Given the description of an element on the screen output the (x, y) to click on. 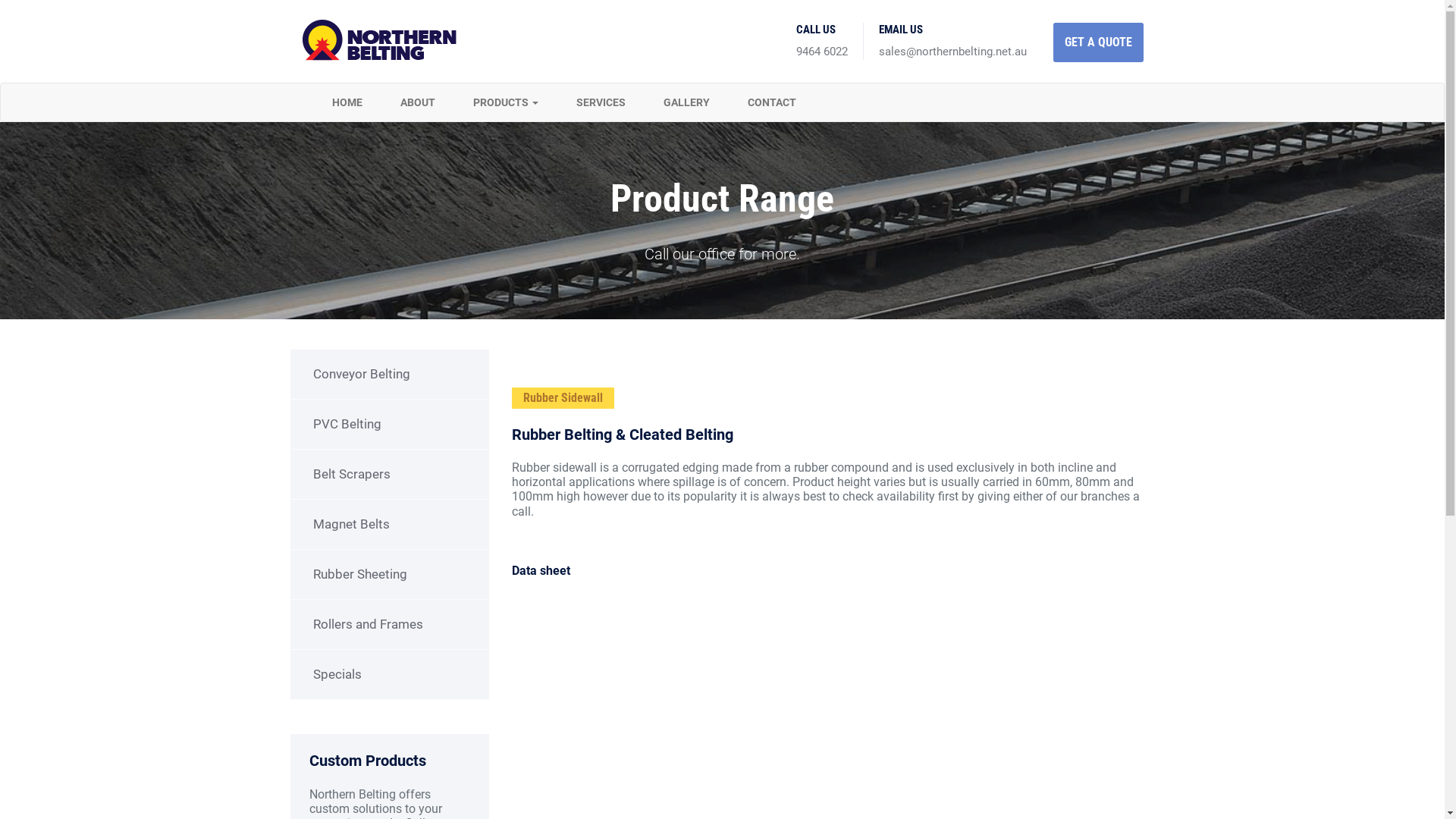
PRODUCTS Element type: text (504, 102)
ABOUT Element type: text (416, 102)
Rollers and Frames Element type: text (389, 624)
HOME Element type: text (346, 102)
Belt Scrapers Element type: text (389, 474)
GET A QUOTE Element type: text (1097, 42)
Specials Element type: text (389, 674)
PVC Belting Element type: text (389, 424)
Conveyor Belting Element type: text (389, 374)
Rubber Sheeting Element type: text (389, 574)
GALLERY Element type: text (686, 102)
SERVICES Element type: text (599, 102)
Magnet Belts Element type: text (389, 524)
Data sheet Element type: text (540, 570)
CONTACT Element type: text (771, 102)
